Given the description of an element on the screen output the (x, y) to click on. 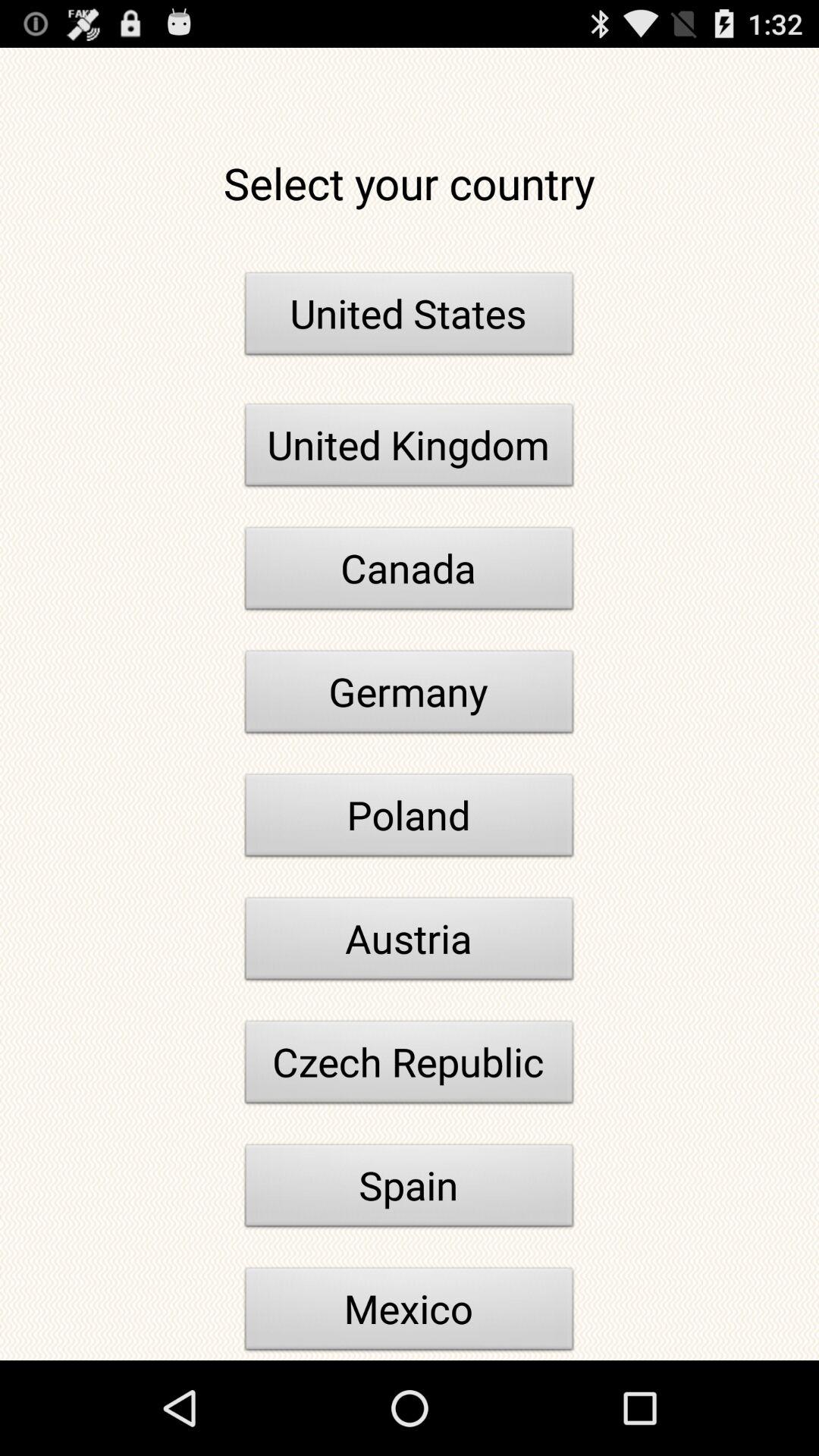
jump until the poland icon (409, 819)
